Given the description of an element on the screen output the (x, y) to click on. 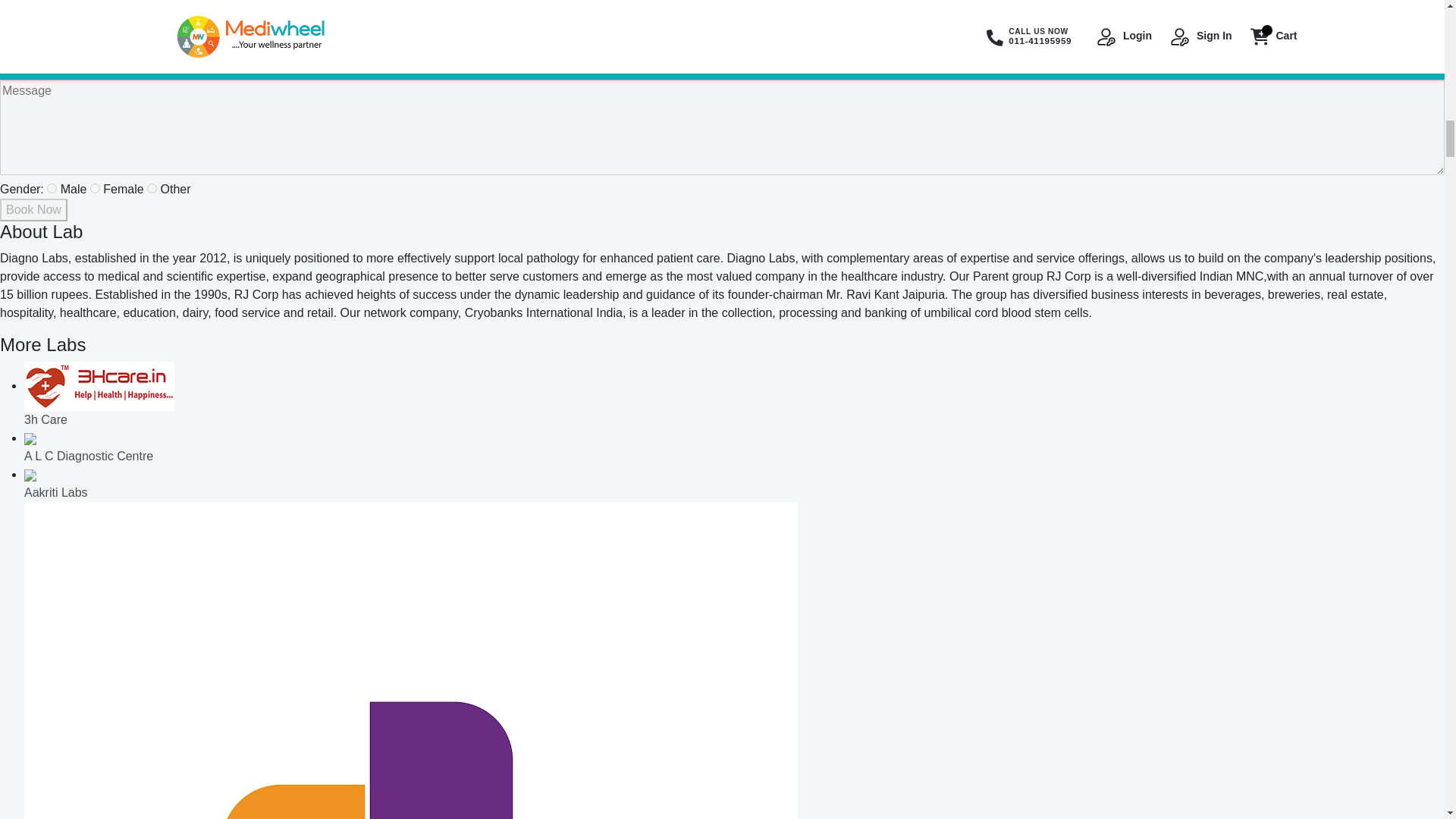
Female (95, 188)
Male (51, 188)
Other (152, 188)
